Given the description of an element on the screen output the (x, y) to click on. 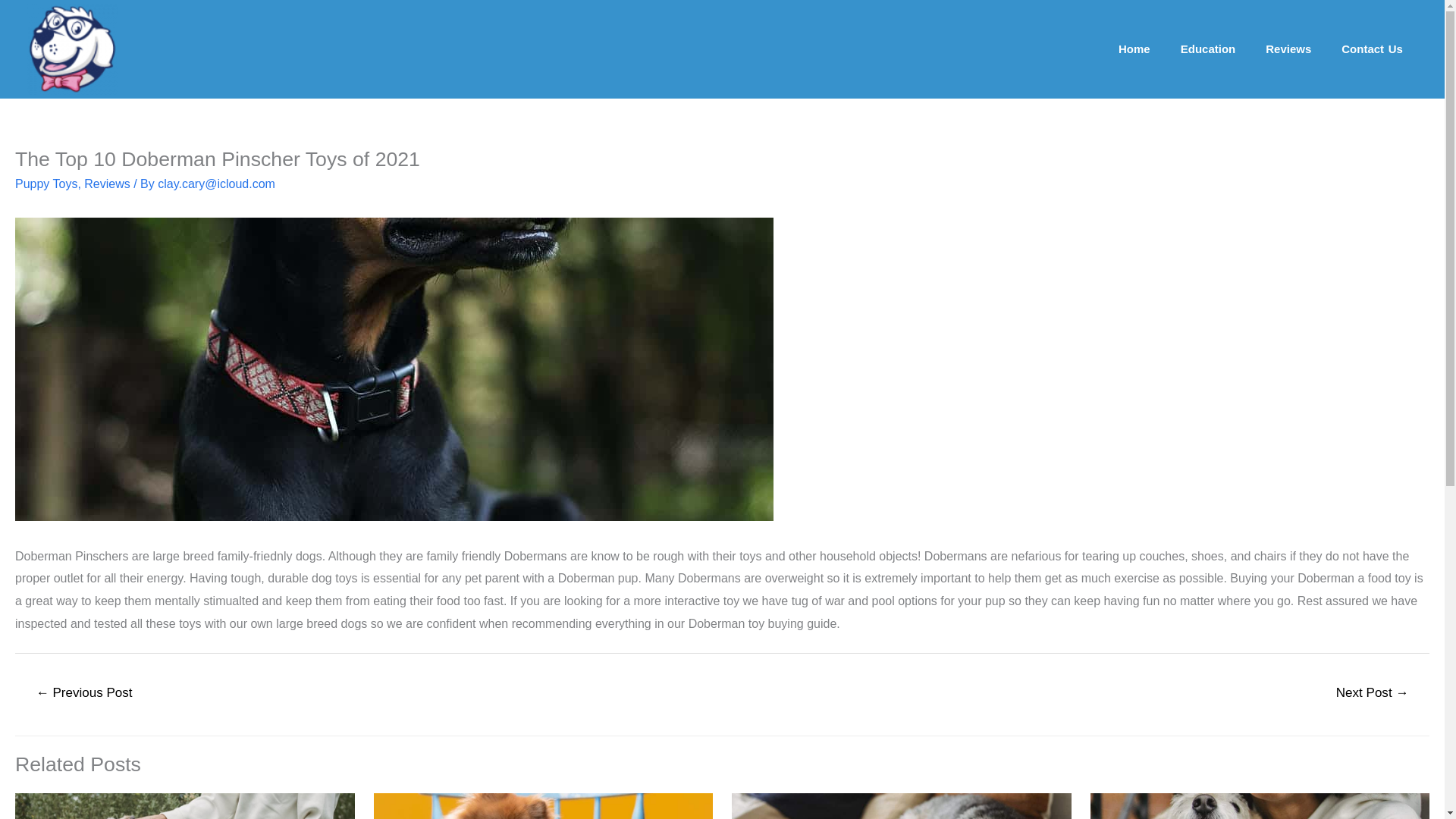
Home (1134, 48)
Reviews (106, 183)
Contact Us (1372, 48)
Education (1208, 48)
Reviews (1288, 48)
Puppy Toys (45, 183)
